Given the description of an element on the screen output the (x, y) to click on. 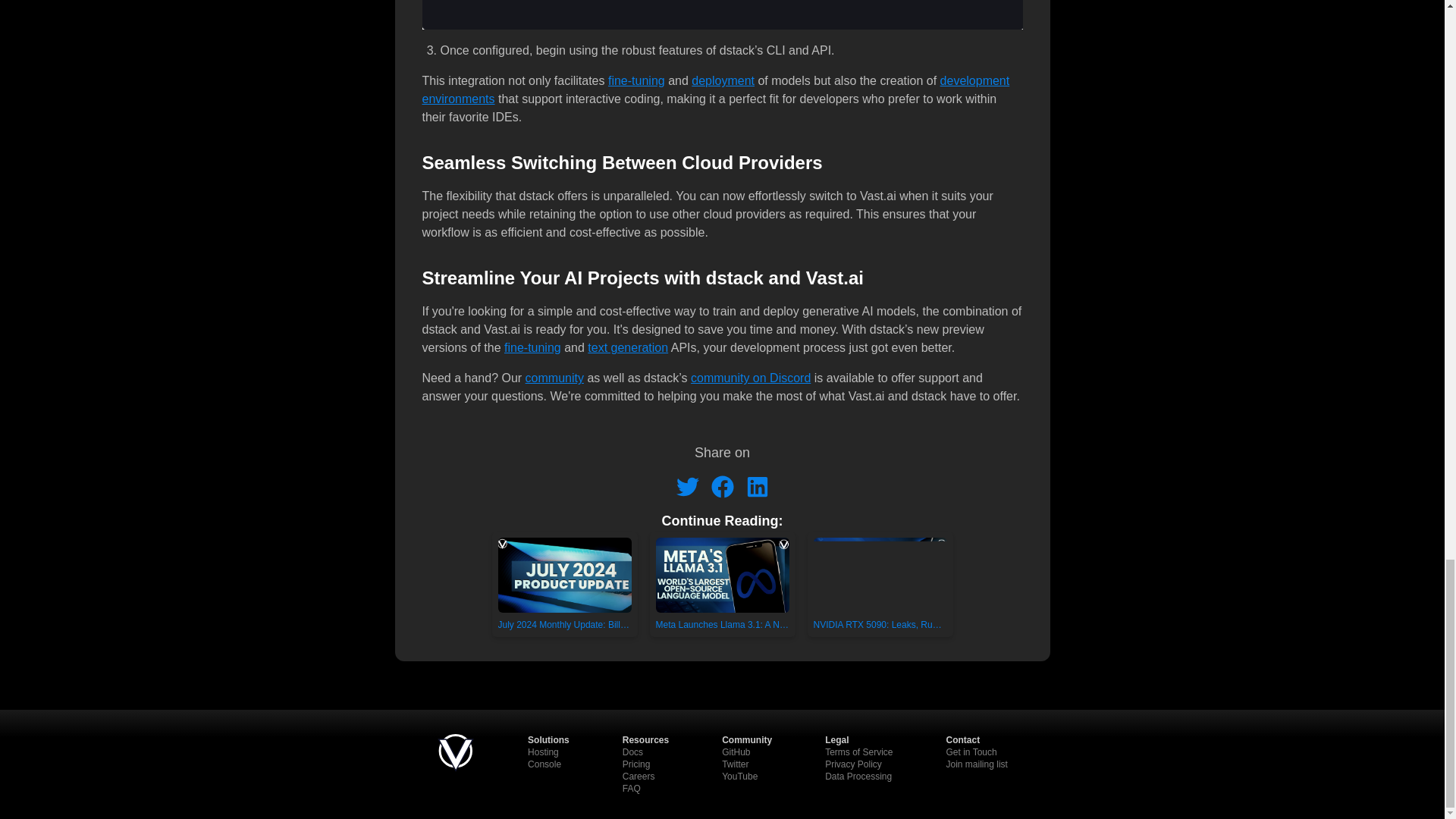
NVIDIA RTX 5090: Leaks, Rumors, and Next-Gen GPU Performance (879, 583)
Meta Launches Llama 3.1: A New Era in Open-Source AI (722, 583)
development environments (715, 89)
Console (543, 764)
Docs (633, 752)
community on Discord (750, 377)
community (554, 377)
Meta Launches Llama 3.1: A New Era in Open-Source AI (721, 584)
fine-tuning (531, 347)
text generation (628, 347)
deployment (722, 80)
Hosting (543, 752)
NVIDIA RTX 5090: Leaks, Rumors, and Next-Gen GPU Performance (879, 584)
